Given the description of an element on the screen output the (x, y) to click on. 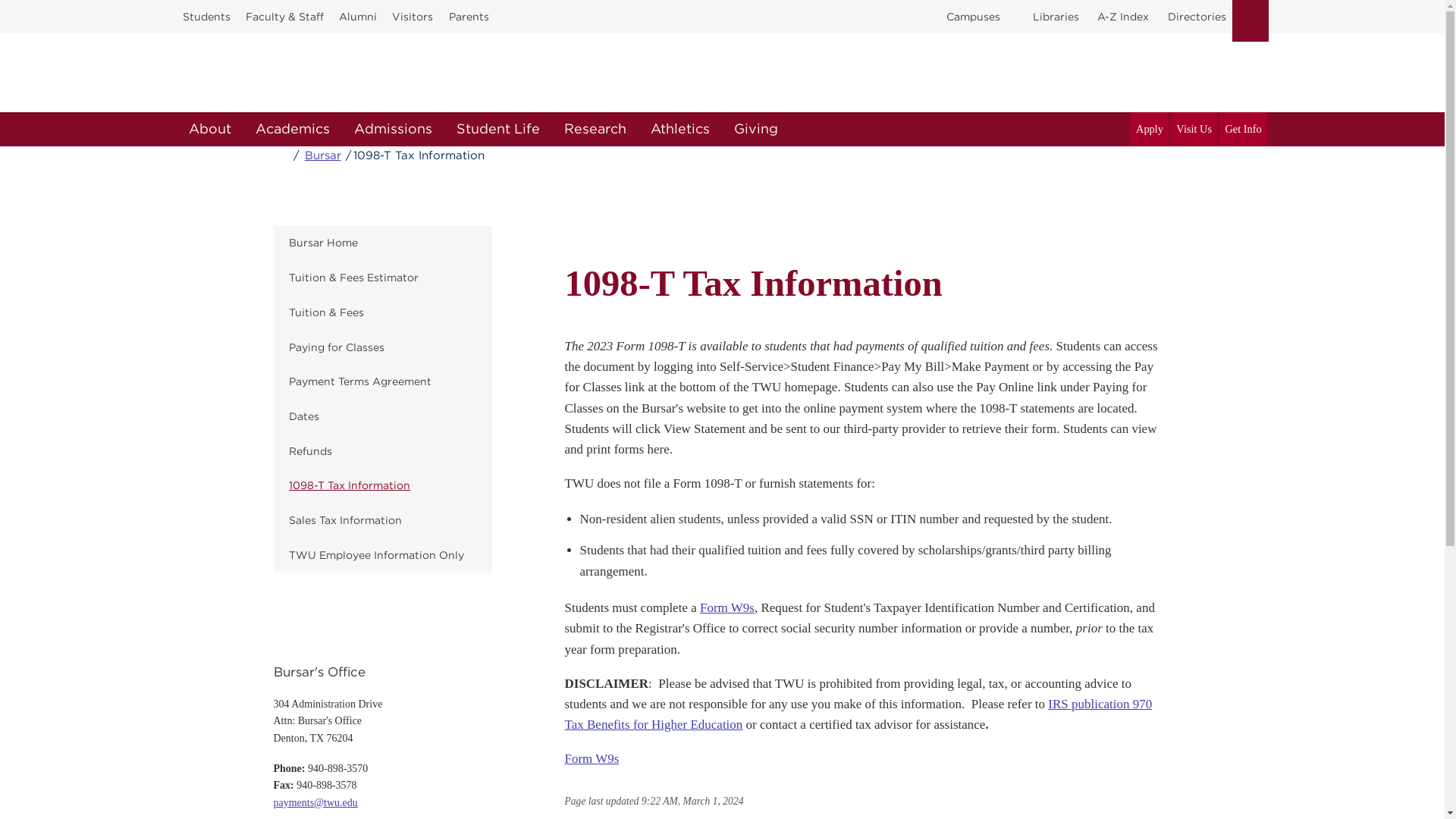
Libraries (1055, 16)
Students (205, 16)
Parents (468, 16)
Alumni (357, 16)
A-Z Index (1122, 16)
Visitors (412, 16)
About (209, 128)
Directories (1196, 16)
Academics (291, 128)
Campuses (973, 16)
